Given the description of an element on the screen output the (x, y) to click on. 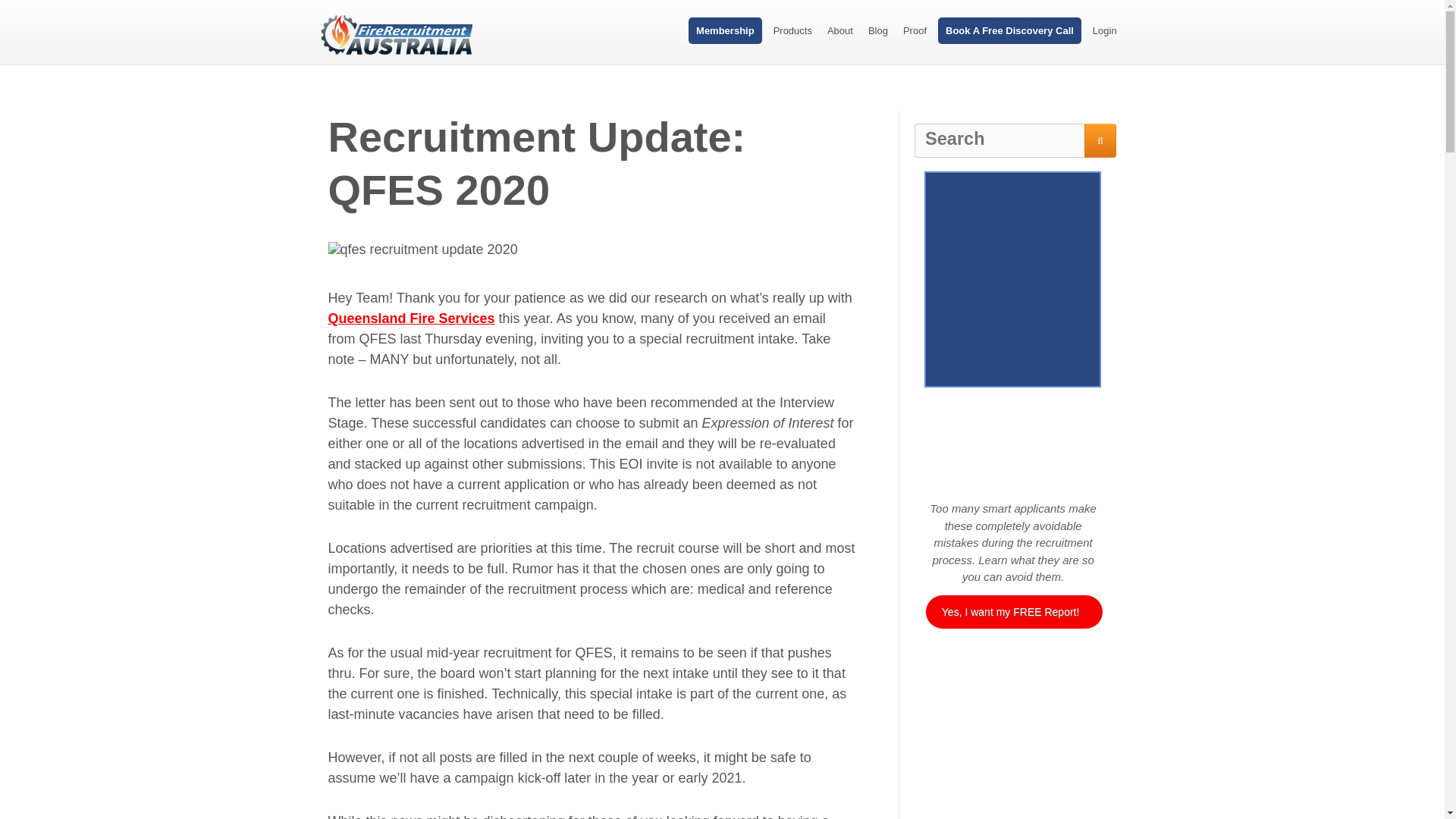
Book A Free Discovery Call (1009, 29)
About (840, 30)
Yes, I want my FREE Report! (1014, 611)
Queensland Fire Services (411, 318)
Aptitude-Improvement-Blueprint-230 (1011, 773)
Membership (724, 29)
Proof (914, 30)
Login (1104, 30)
recruitment fastbreak (421, 249)
Blog (877, 30)
